Given the description of an element on the screen output the (x, y) to click on. 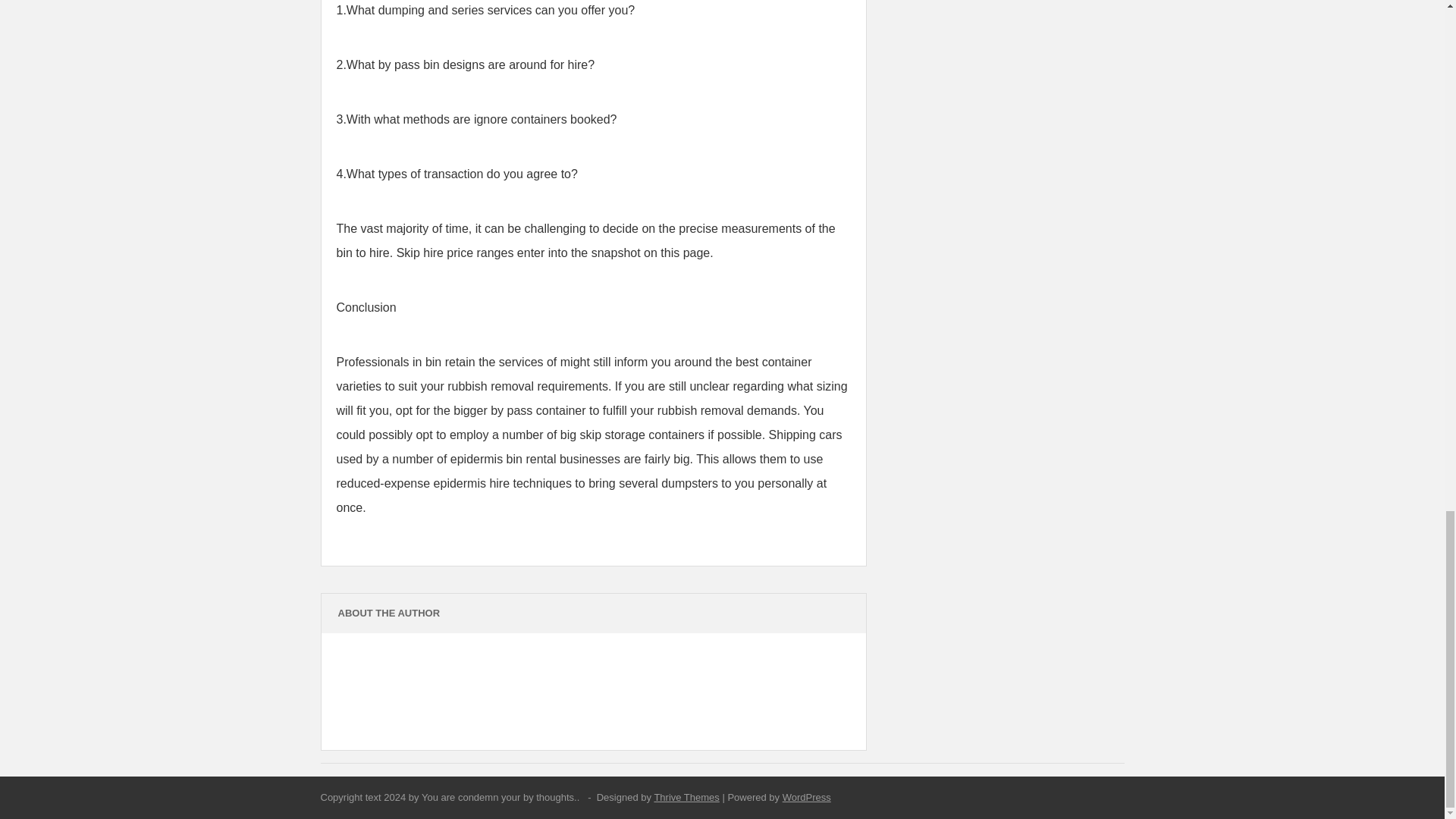
WordPress (807, 797)
Thrive Themes (686, 797)
